Given the description of an element on the screen output the (x, y) to click on. 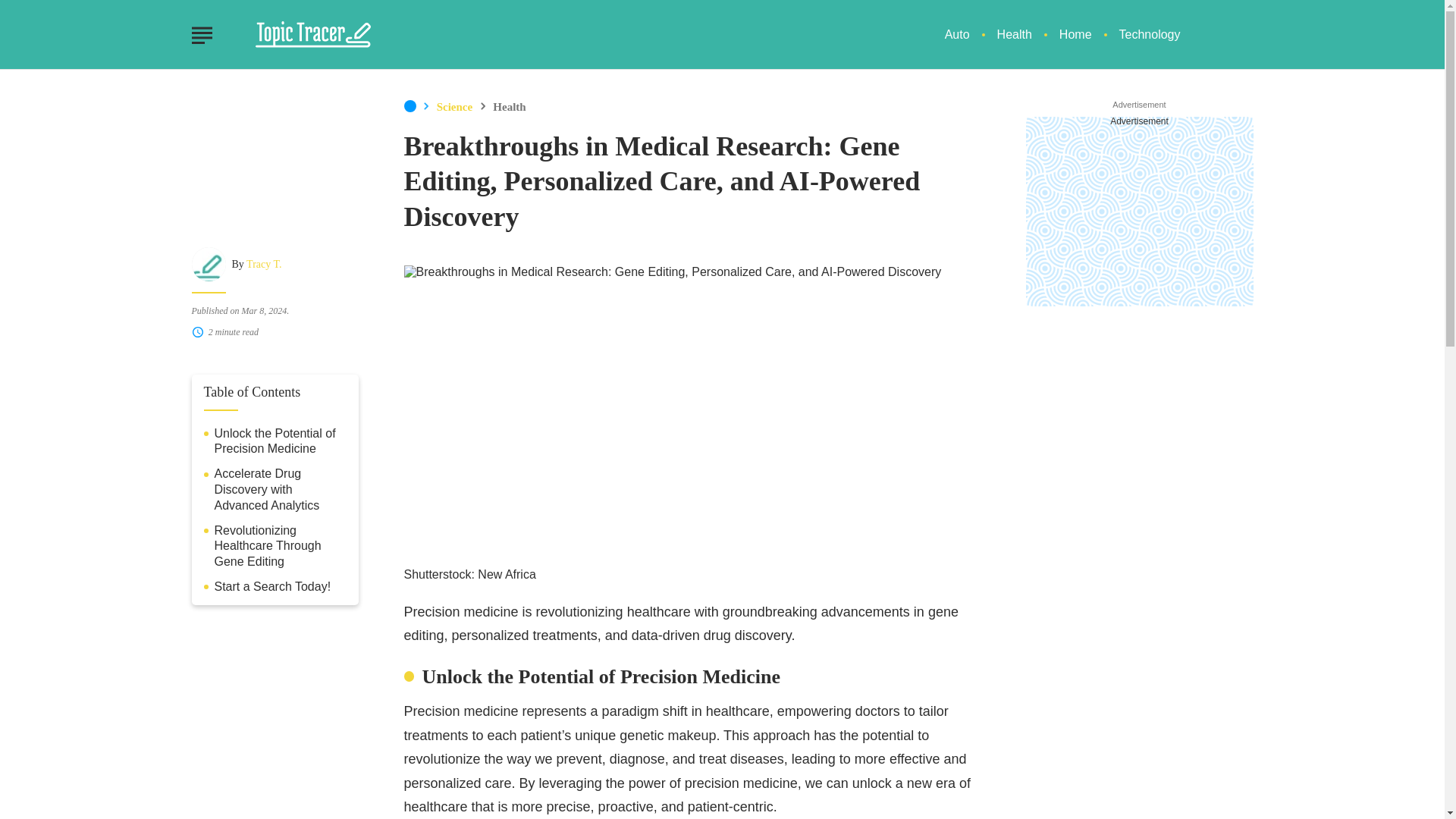
Auto (956, 34)
Health (1014, 34)
Health (509, 106)
Home (1075, 34)
Revolutionizing Healthcare Through Gene Editing (280, 546)
Start a Search Today! (272, 587)
Home (408, 106)
Science (453, 106)
Accelerate Drug Discovery with Advanced Analytics (280, 489)
Unlock the Potential of Precision Medicine (280, 441)
Technology (1149, 34)
